Given the description of an element on the screen output the (x, y) to click on. 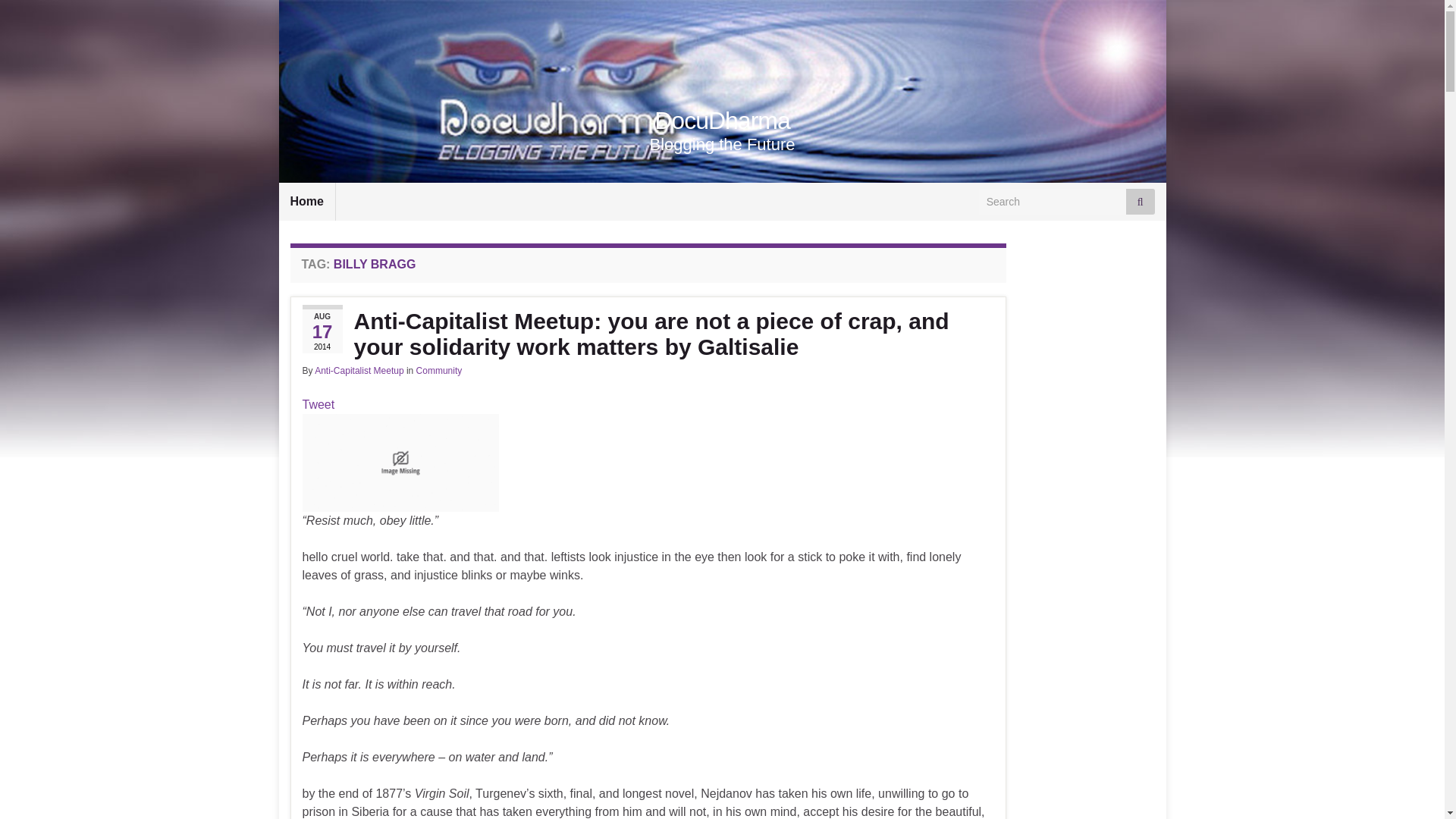
Tweet (317, 404)
Community (439, 370)
Home (306, 201)
Anti-Capitalist Meetup (358, 370)
DocuDharma (721, 120)
Go back to the front page (721, 120)
